Given the description of an element on the screen output the (x, y) to click on. 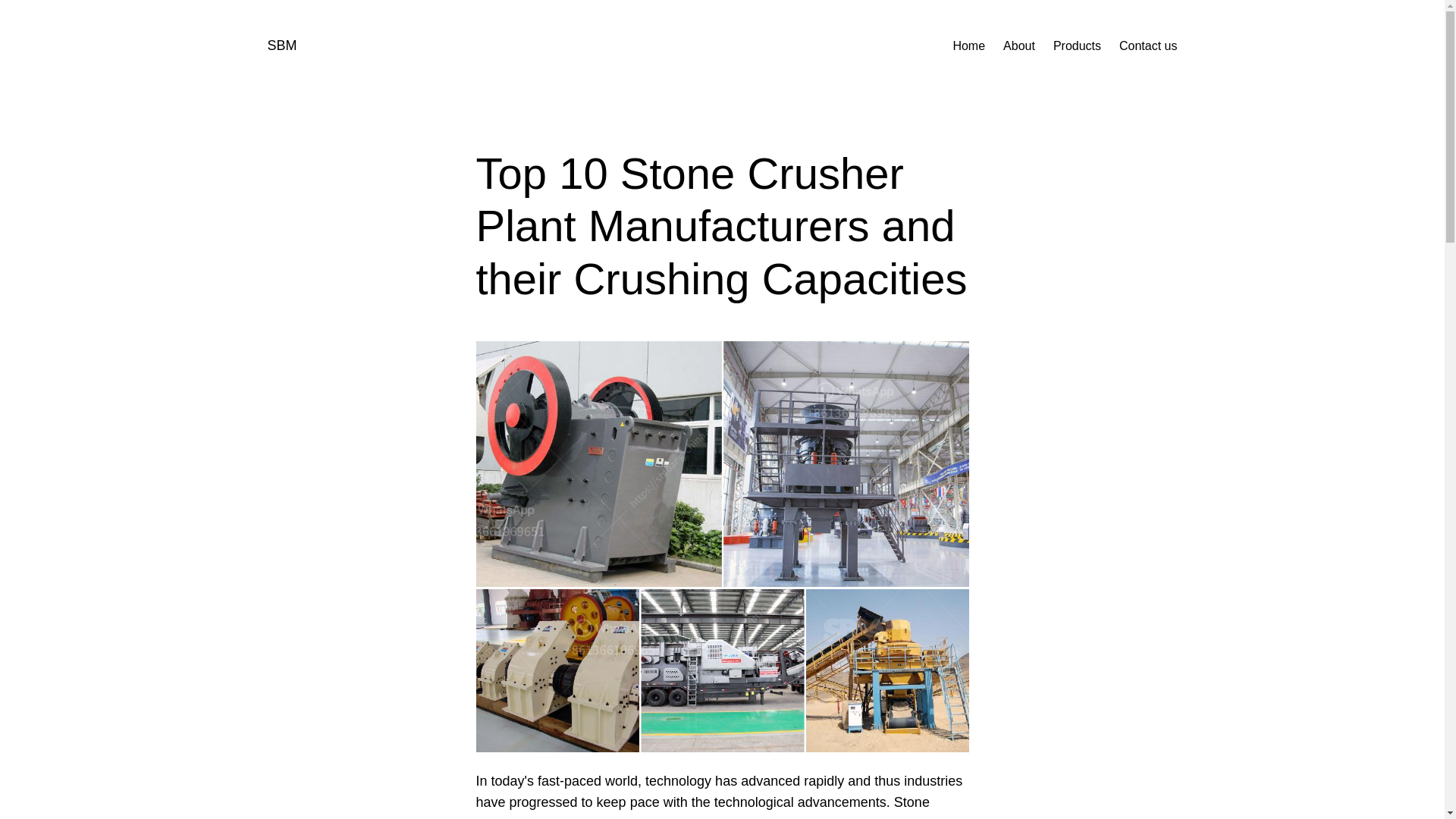
Contact us (1147, 46)
Home (968, 46)
SBM (281, 45)
Products (1076, 46)
About (1019, 46)
